Given the description of an element on the screen output the (x, y) to click on. 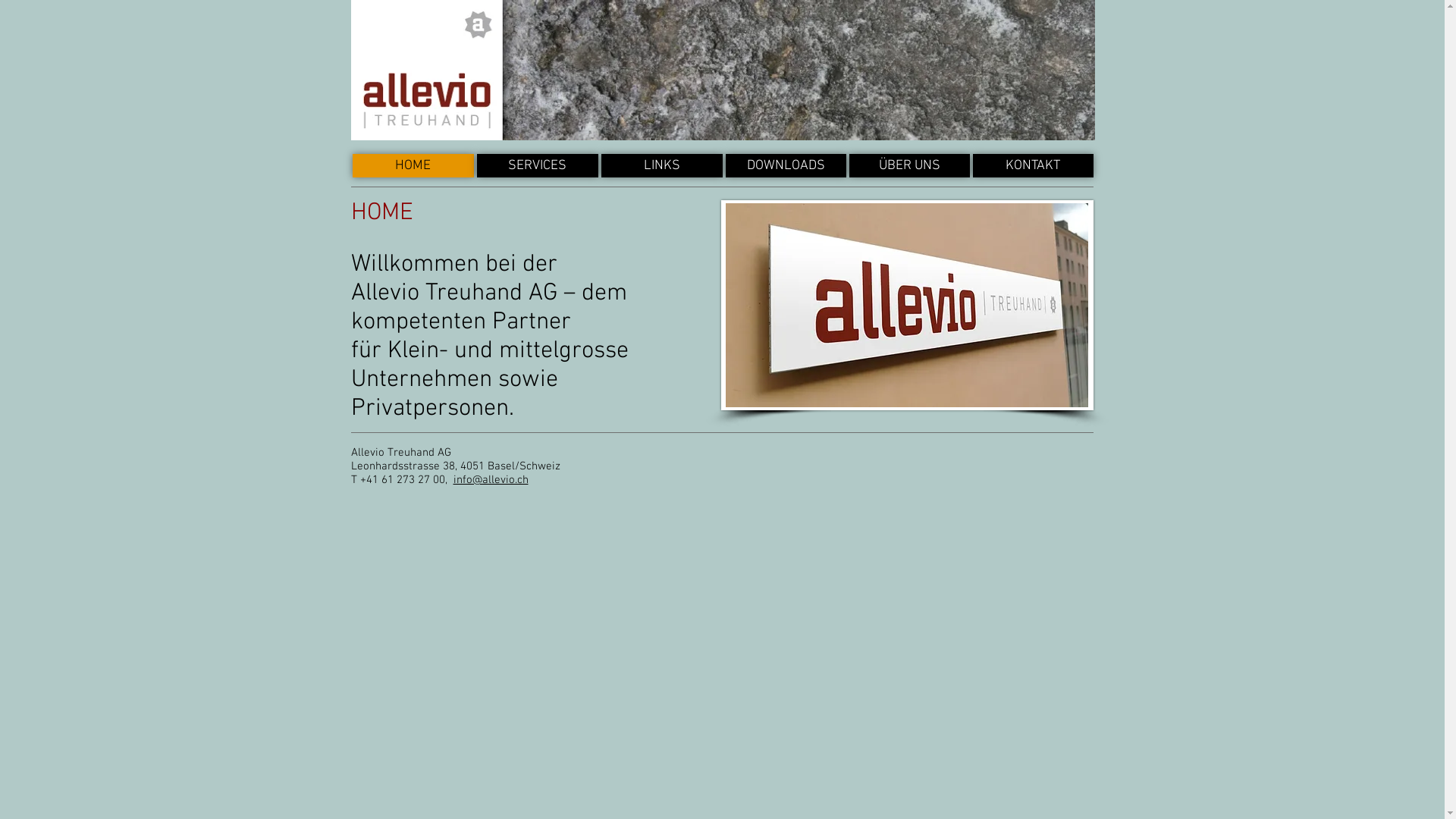
IMG_1004+.jpg Element type: hover (906, 305)
DOWNLOADS Element type: text (784, 165)
LINKS Element type: text (660, 165)
HOME Element type: text (412, 165)
info@allevio.ch Element type: text (490, 479)
SERVICES Element type: text (536, 165)
KONTAKT Element type: text (1032, 165)
